Given the description of an element on the screen output the (x, y) to click on. 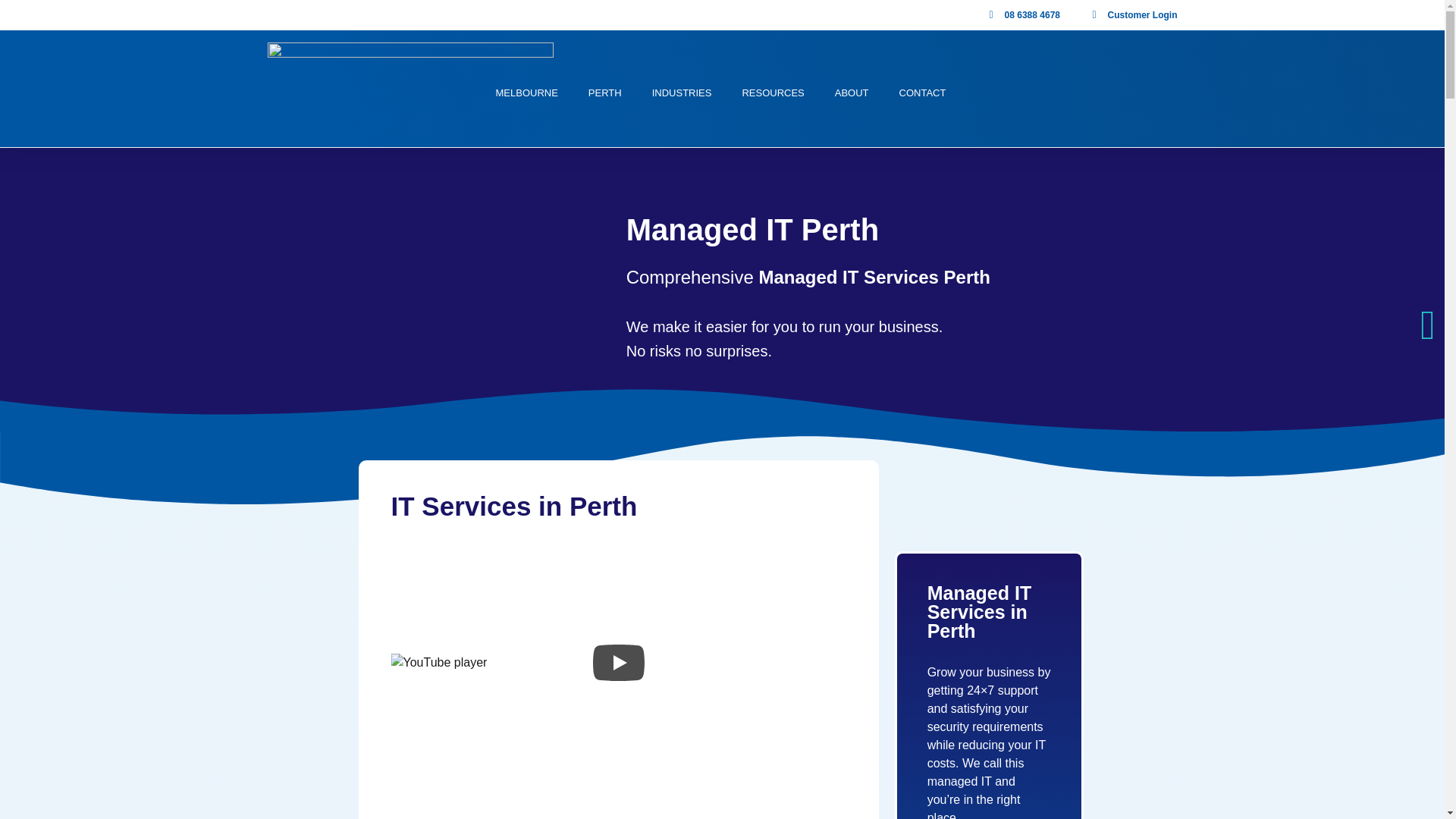
INDUSTRIES (681, 93)
08 6388 4678 (1019, 15)
RESOURCES (772, 93)
MELBOURNE (526, 93)
Customer Login (1130, 15)
PERTH (604, 93)
